Given the description of an element on the screen output the (x, y) to click on. 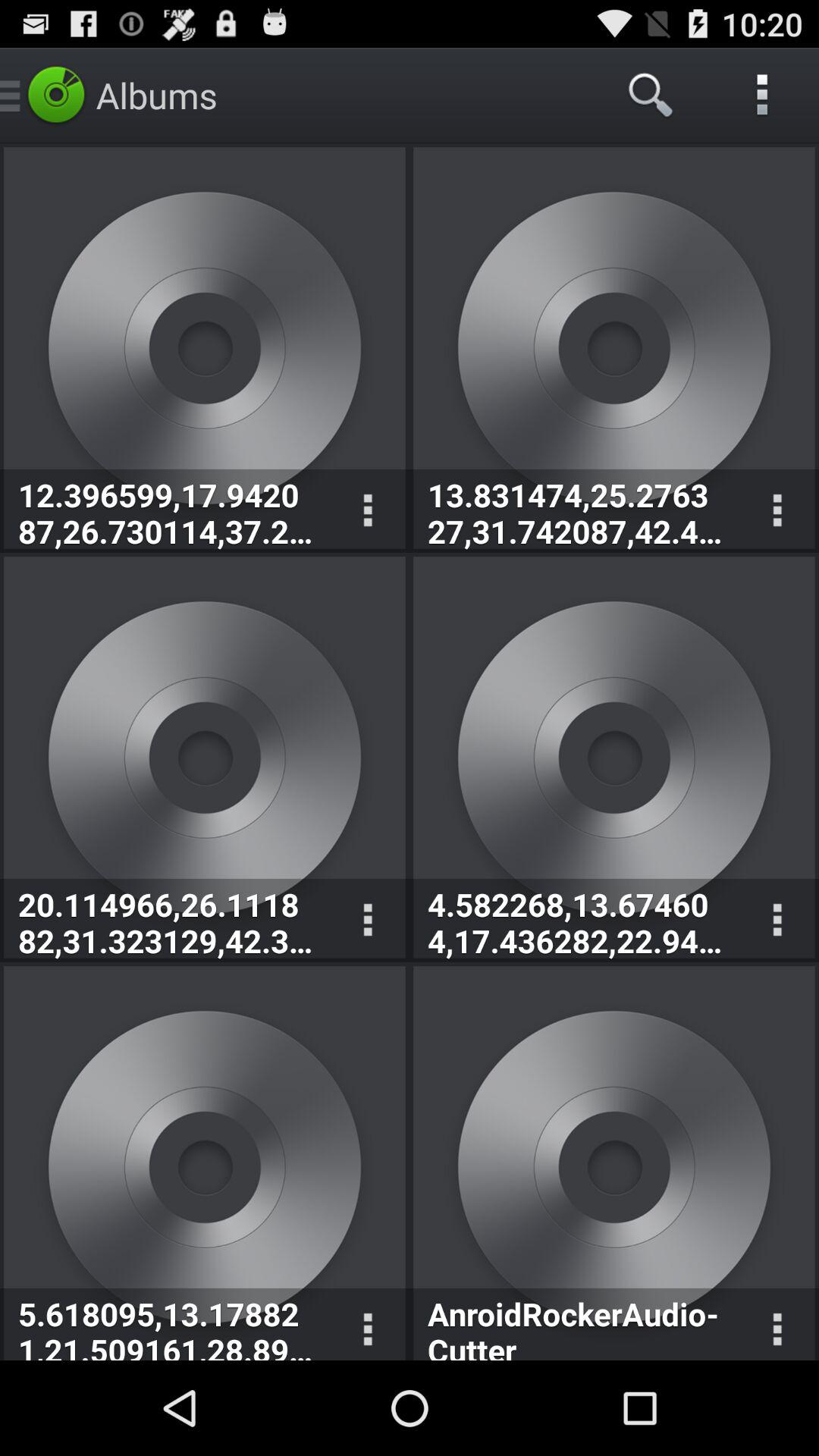
options (777, 510)
